Given the description of an element on the screen output the (x, y) to click on. 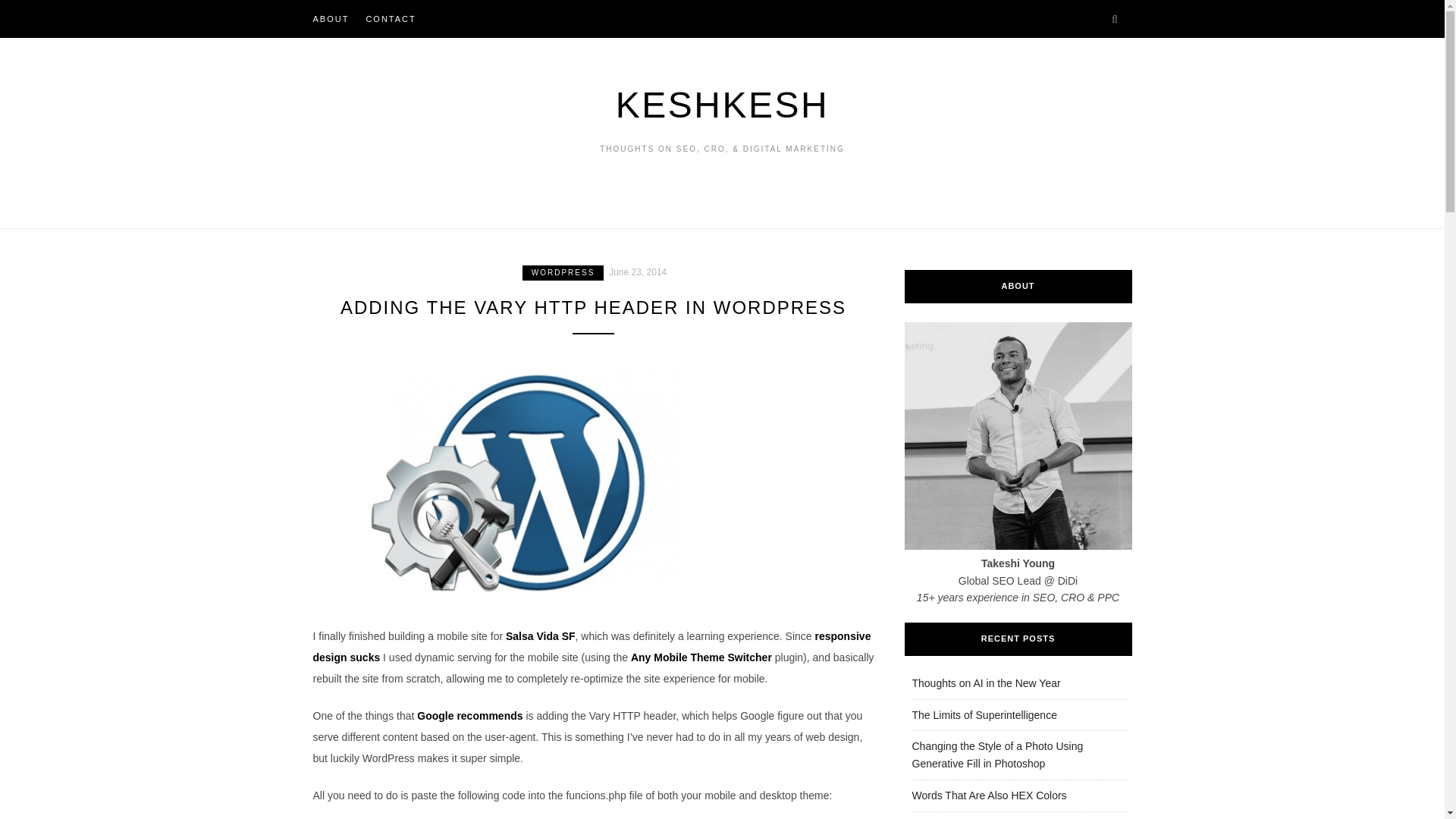
June 23, 2014 (637, 271)
WORDPRESS (563, 272)
responsive design sucks (591, 646)
CONTACT (389, 18)
Google recommends (469, 715)
ABOUT (331, 18)
Salsa Vida SF (540, 635)
Thoughts on AI in the New Year (985, 683)
Any Mobile Theme Switcher (700, 657)
KESHKESH (721, 105)
